Given the description of an element on the screen output the (x, y) to click on. 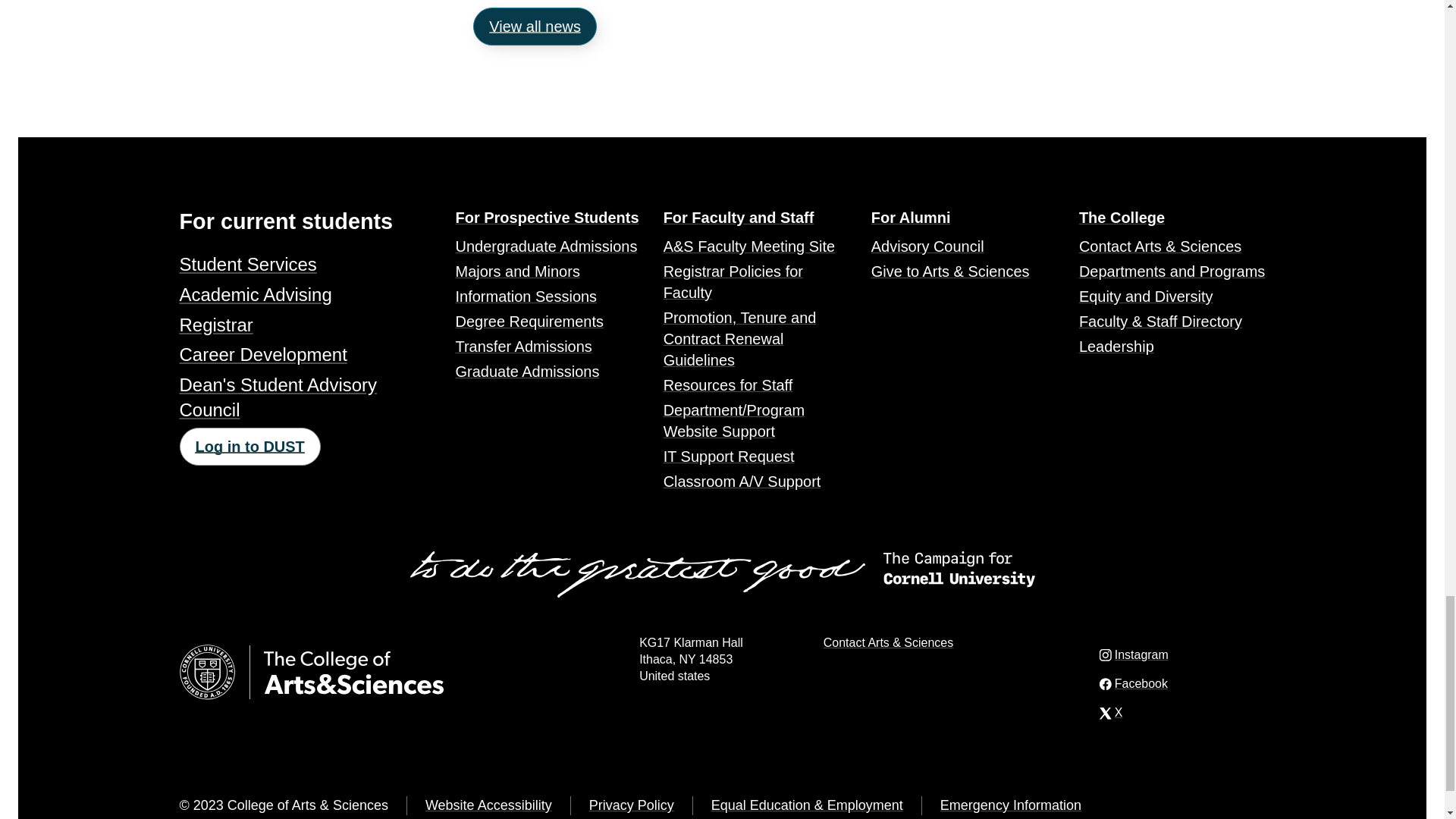
Cornell University (206, 672)
